Given the description of an element on the screen output the (x, y) to click on. 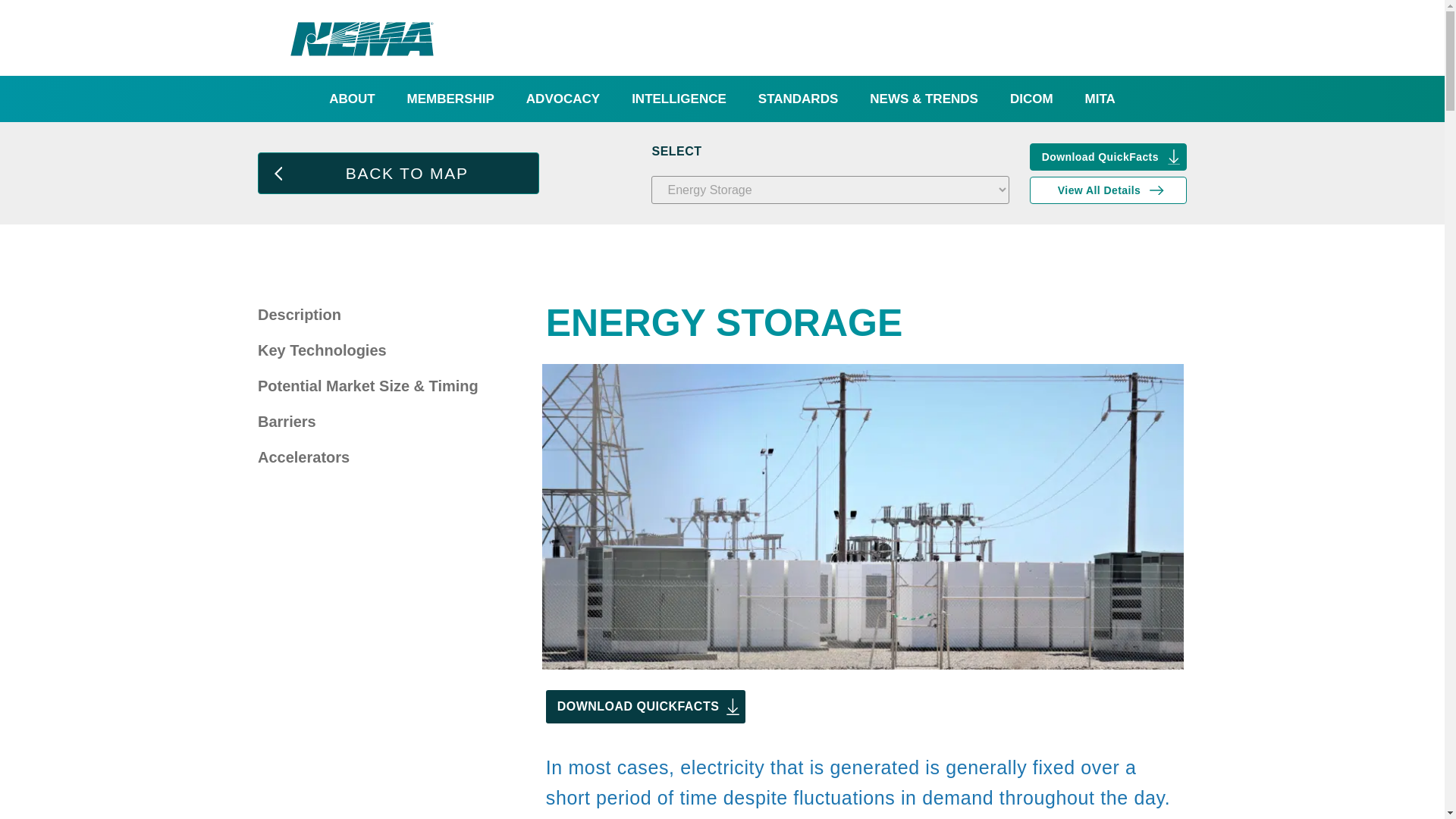
View All Details (1107, 189)
INTELLIGENCE (678, 98)
Key Technologies (368, 350)
ABOUT (351, 98)
Accelerators (368, 457)
Download QuickFacts (1107, 155)
MEMBERSHIP (451, 98)
MITA (1099, 98)
BACK TO MAP (397, 173)
STANDARDS (797, 98)
